Given the description of an element on the screen output the (x, y) to click on. 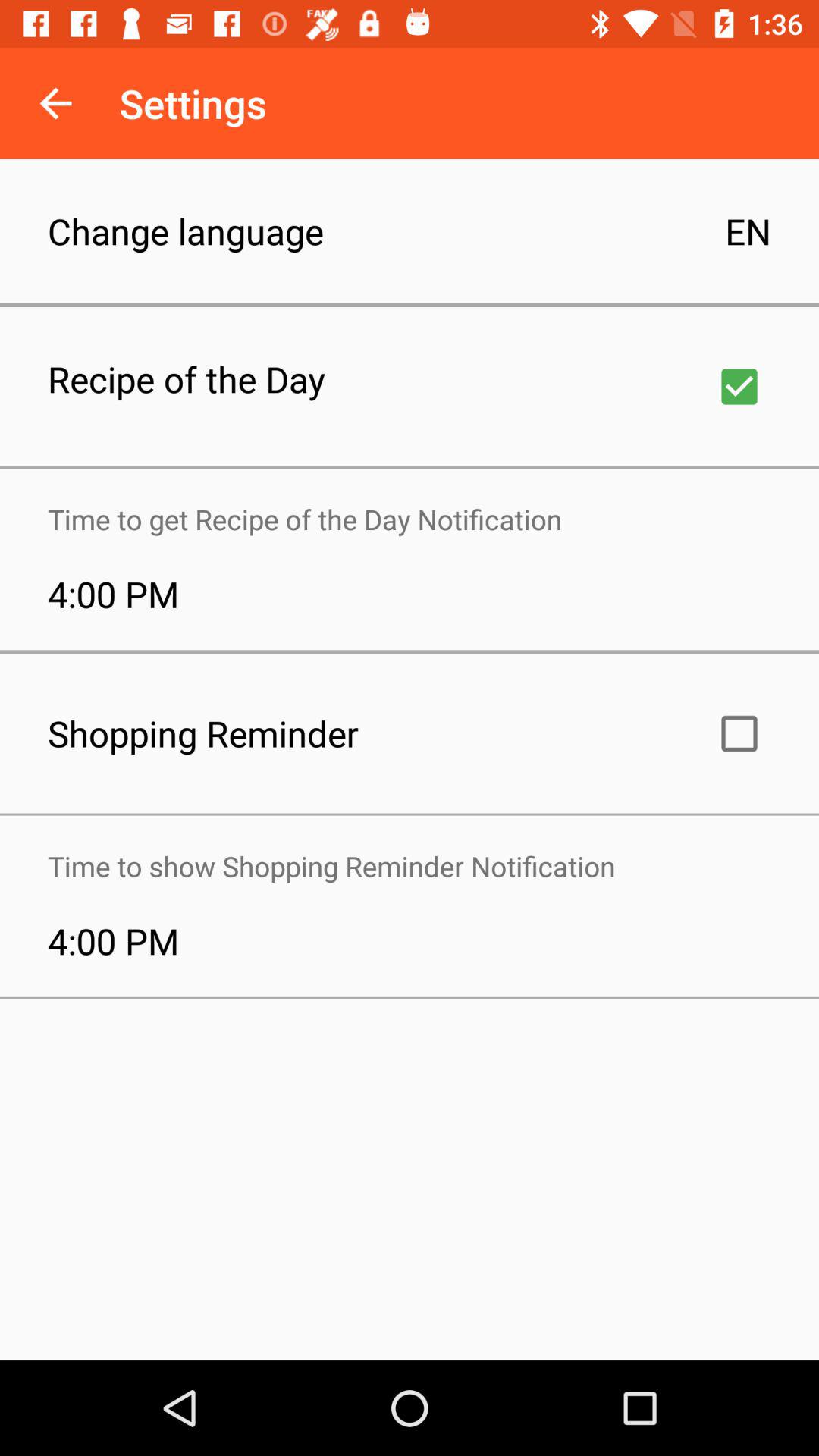
enable shopping reminder (739, 733)
